Given the description of an element on the screen output the (x, y) to click on. 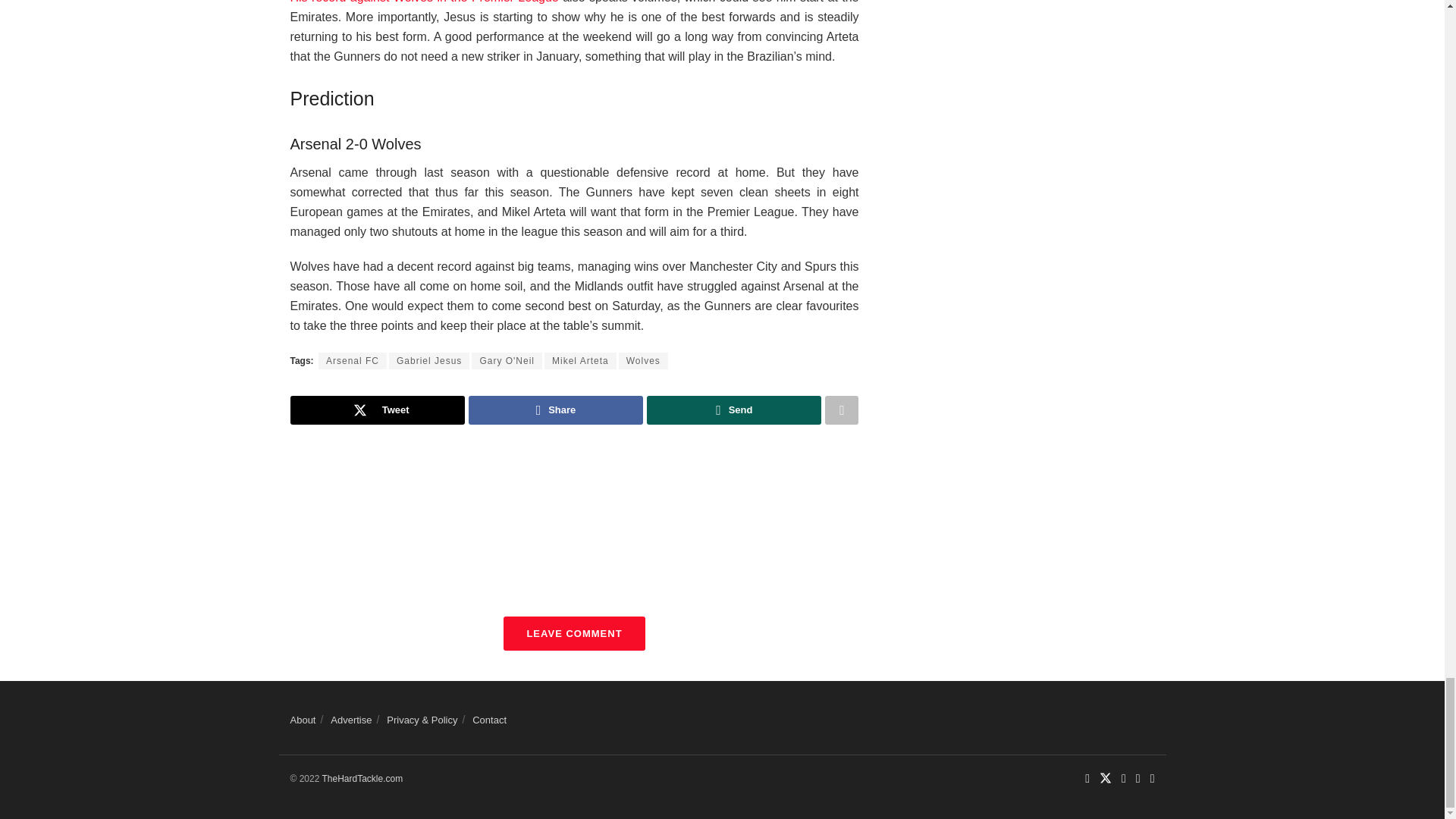
The Hard Tackle (362, 778)
